Given the description of an element on the screen output the (x, y) to click on. 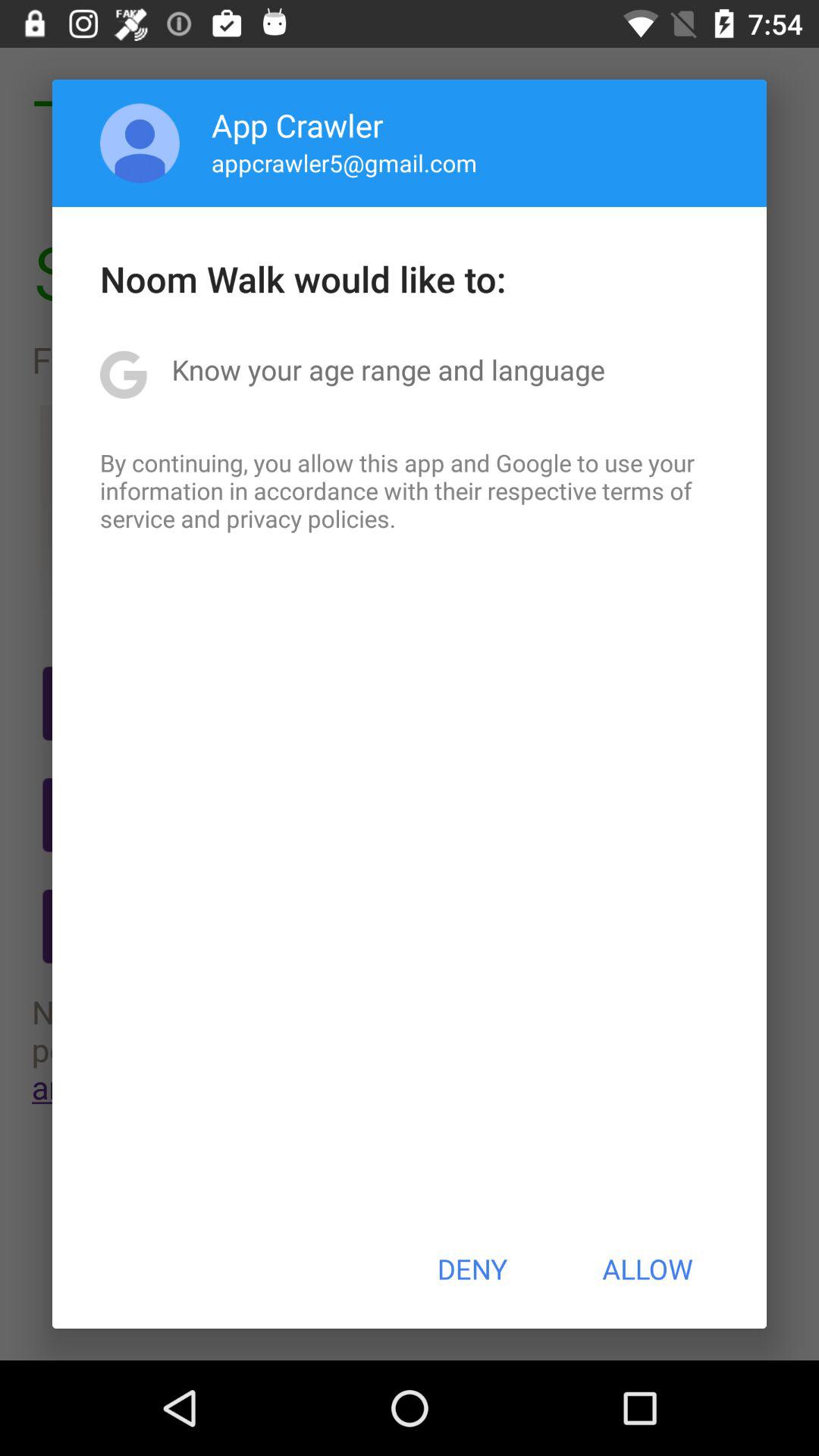
launch the item to the left of allow (471, 1268)
